Given the description of an element on the screen output the (x, y) to click on. 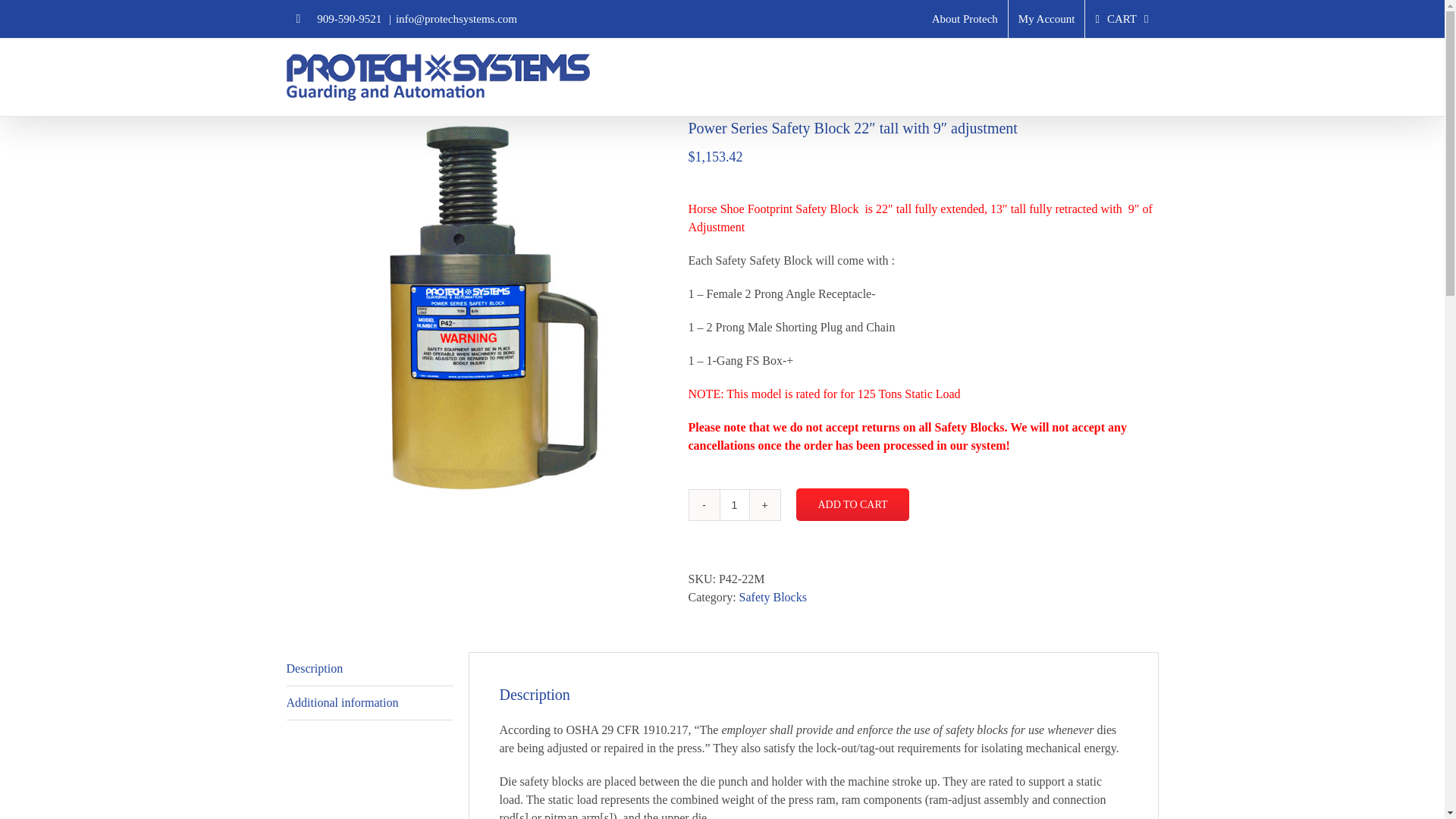
About Protech (964, 18)
My Account (1046, 18)
- (703, 504)
Log In (1113, 149)
CART (1120, 18)
909-590-9521 (350, 19)
1 (734, 504)
